Given the description of an element on the screen output the (x, y) to click on. 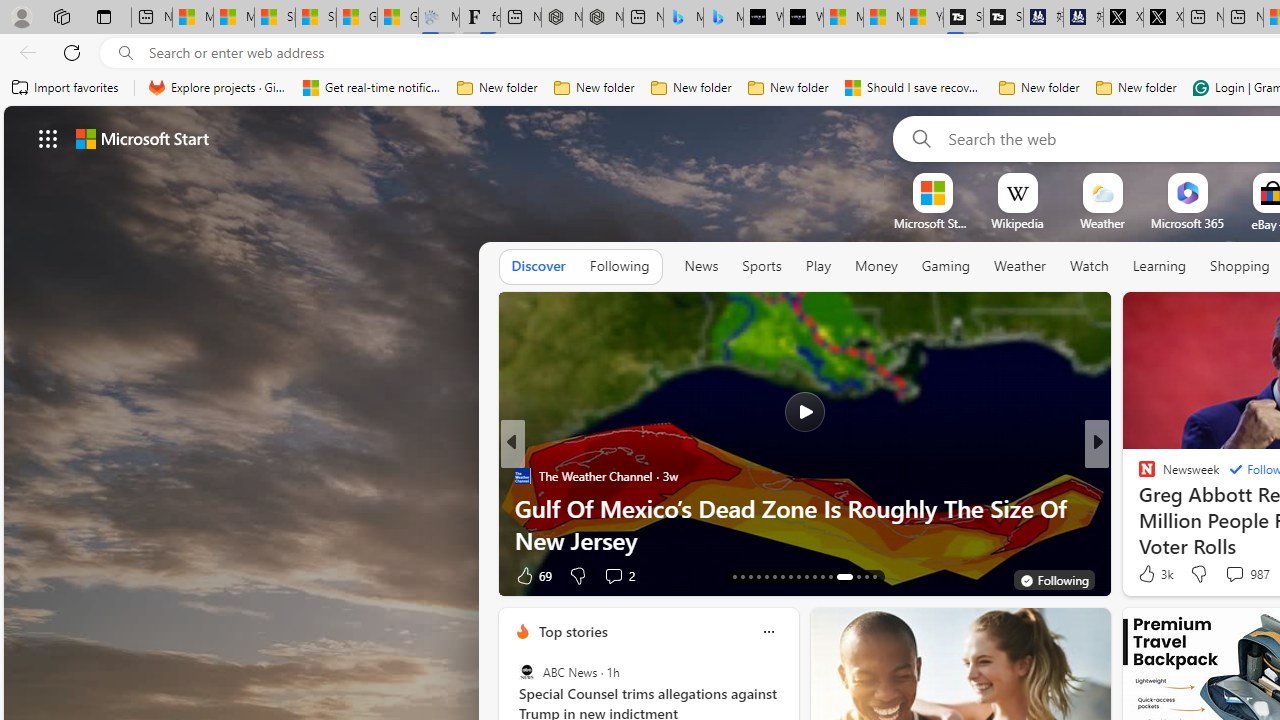
AutomationID: tab-19 (782, 576)
Ad Choice (479, 575)
ABC News (526, 672)
View comments 18 Comment (11, 575)
View comments 156 Comment (11, 575)
Microsoft Start Sports (843, 17)
AutomationID: tab-27 (857, 576)
Microsoft 365 (1186, 223)
View comments 987 Comment (1234, 573)
Class: control (47, 138)
You're following Newsweek (445, 579)
